Given the description of an element on the screen output the (x, y) to click on. 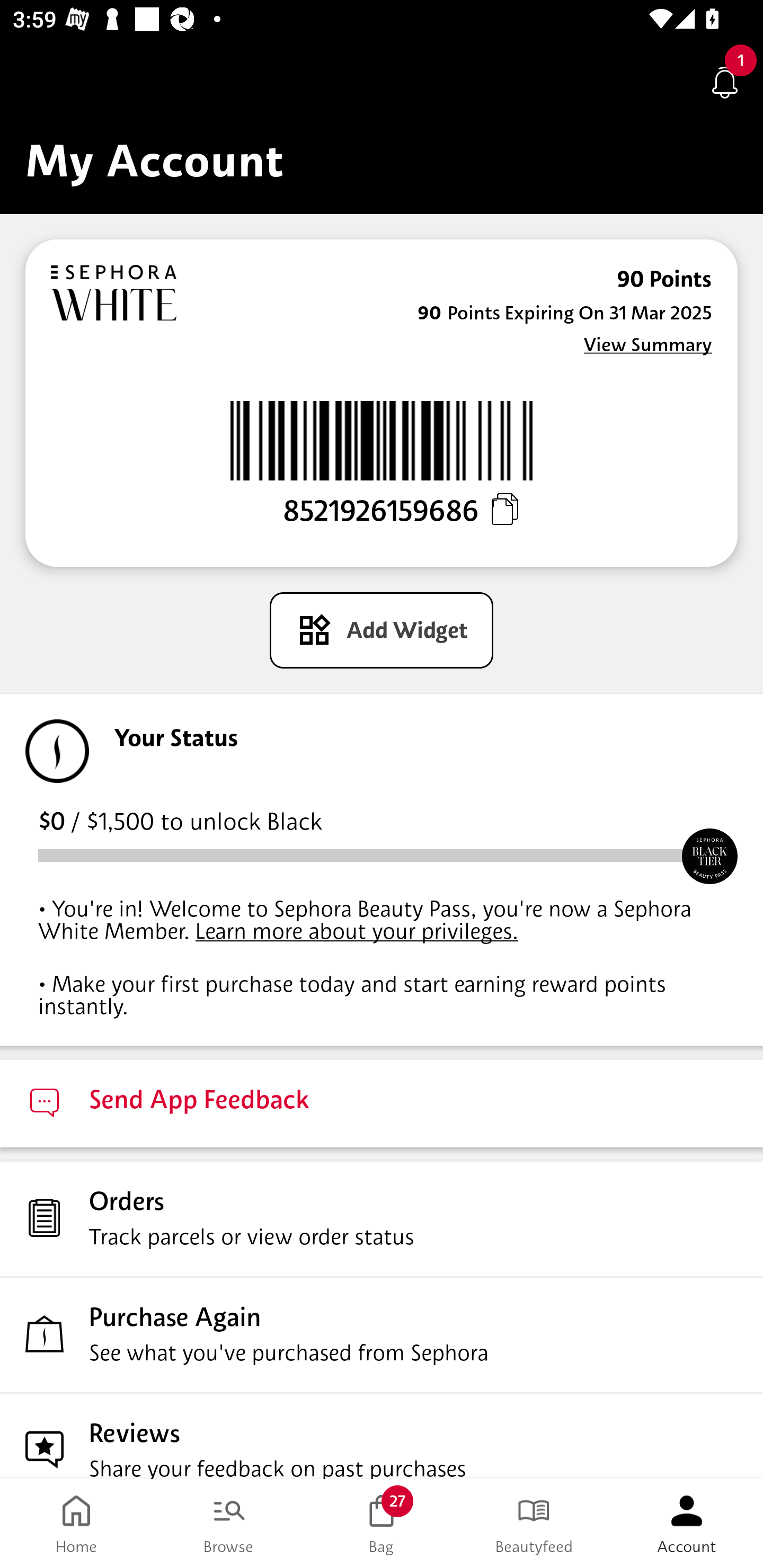
Notifications (724, 81)
View Summary (647, 343)
Add Widget (381, 629)
Send App Feedback (381, 1102)
Orders Track parcels or view order status (381, 1218)
Reviews Share your feedback on past purchases (381, 1435)
Home (76, 1523)
Browse (228, 1523)
Bag 27 Bag (381, 1523)
Beautyfeed (533, 1523)
